Given the description of an element on the screen output the (x, y) to click on. 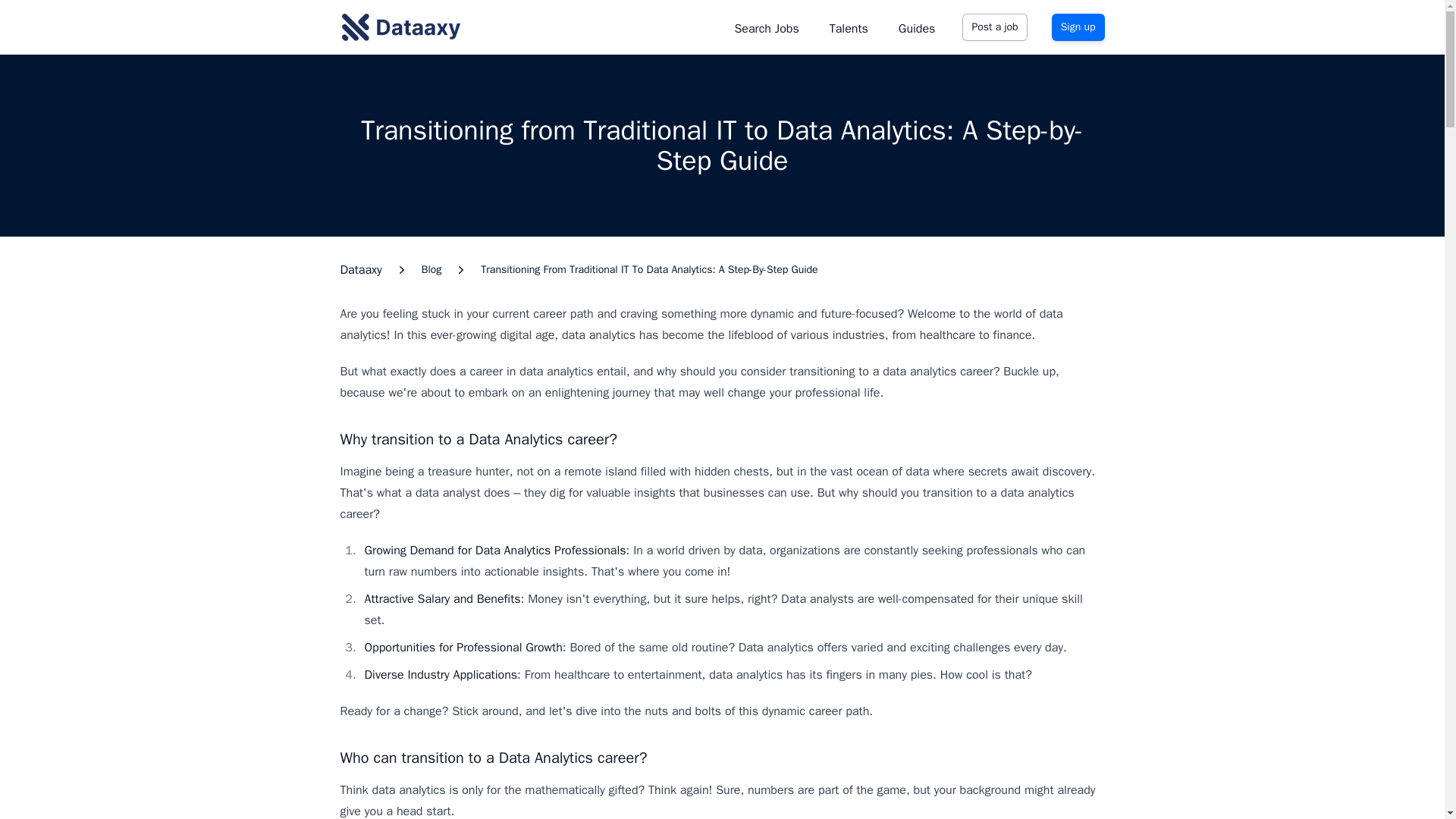
Blog (432, 269)
Search Jobs (766, 26)
Guides (917, 26)
Sign up (1078, 26)
Talents (848, 26)
Post a job (994, 26)
